Given the description of an element on the screen output the (x, y) to click on. 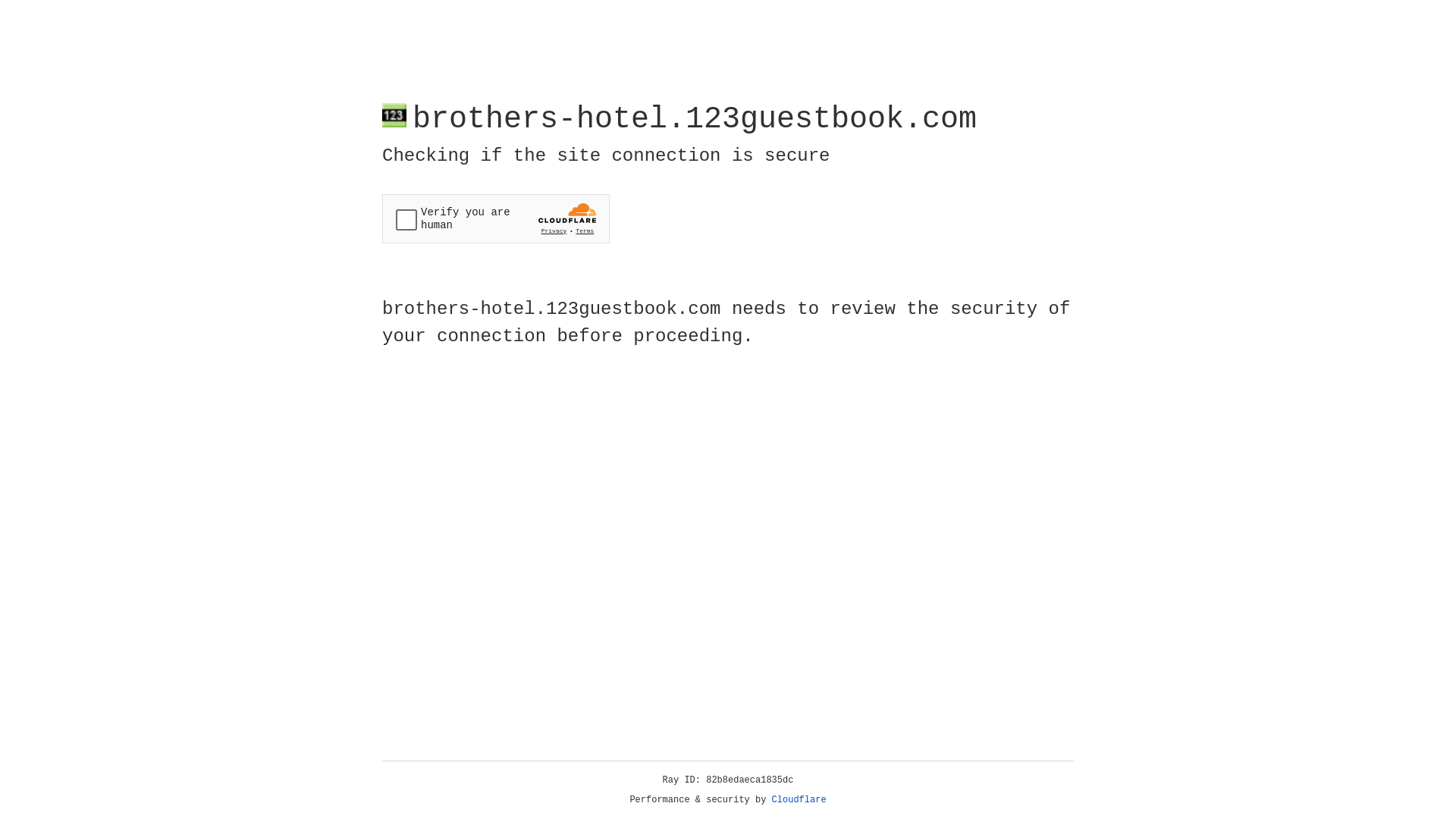
Cloudflare Element type: text (798, 799)
Widget containing a Cloudflare security challenge Element type: hover (495, 218)
